Given the description of an element on the screen output the (x, y) to click on. 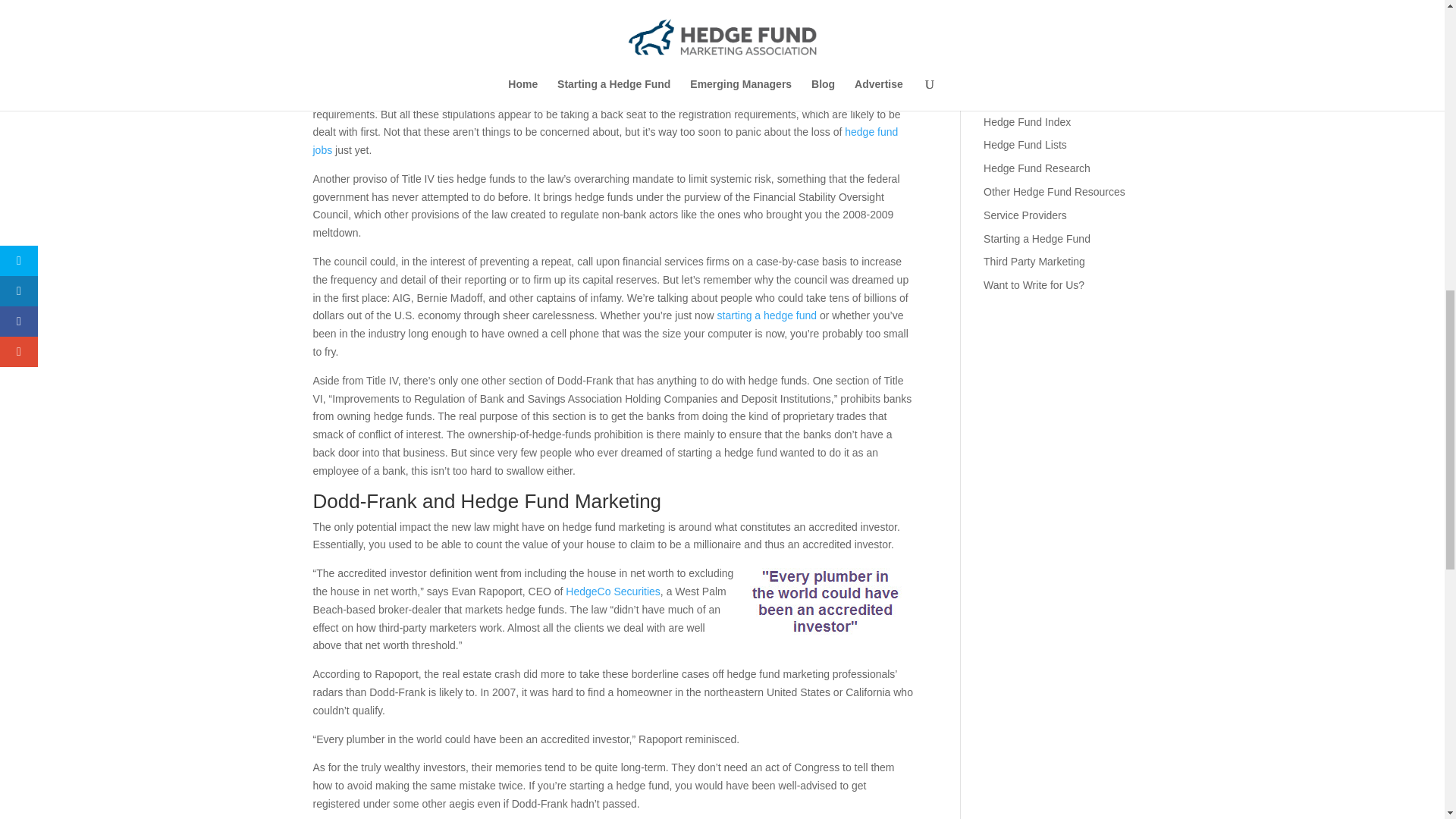
Starting a Hedge Fund (1037, 238)
Hedge Fund Certifications (1045, 51)
quote-every-plumber (826, 601)
Due Diligence (1016, 5)
Hedge Fund Service Providers (1025, 215)
Hedge Fund Index (1027, 121)
Hedge Fund Research (1037, 168)
hedge fund jobs (605, 141)
Other Hedge Fund Resources (1054, 191)
Service Providers (1025, 215)
Want to Write for Us? (1034, 285)
Hedge Fund Definition (1036, 74)
HedgeCo Securities (613, 591)
Third Party Marketing (1034, 261)
starting a hedge fund (766, 315)
